Given the description of an element on the screen output the (x, y) to click on. 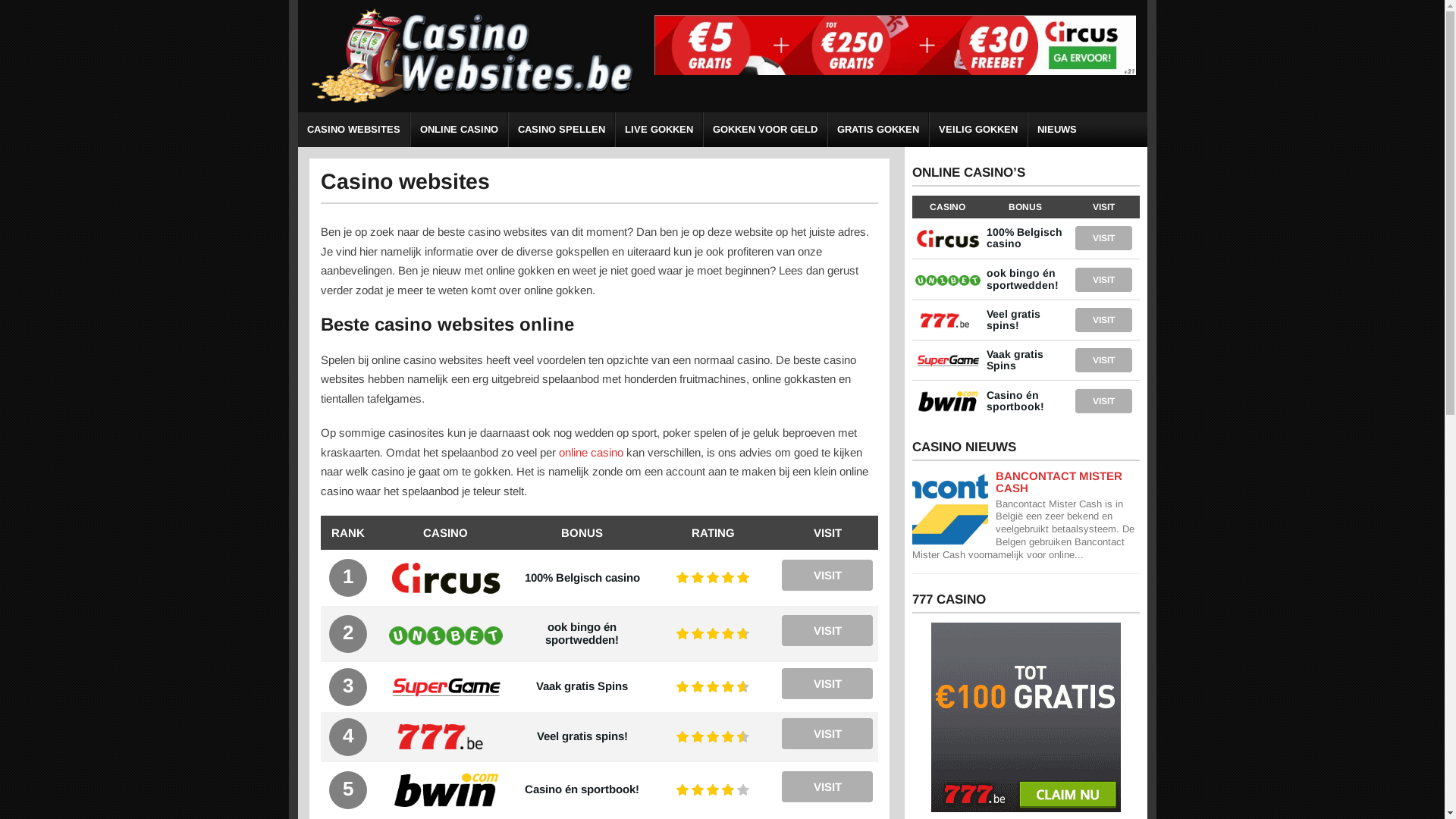
GRATIS GOKKEN Element type: text (878, 129)
ONLINE CASINO Element type: text (459, 129)
VISIT Element type: text (826, 733)
CASINO WEBSITES Element type: text (352, 129)
VISIT Element type: text (826, 683)
VEILIG GOKKEN Element type: text (977, 129)
VISIT Element type: text (1103, 319)
NIEUWS Element type: text (1056, 129)
online casino Element type: text (590, 451)
VISIT Element type: text (826, 574)
VISIT Element type: text (1103, 237)
BANCONTACT MISTER CASH Element type: text (1057, 482)
VISIT Element type: text (1103, 360)
VISIT Element type: text (826, 630)
VISIT Element type: text (1103, 401)
LIVE GOKKEN Element type: text (658, 129)
VISIT Element type: text (1103, 279)
VISIT Element type: text (826, 786)
Casino websites Element type: hover (472, 100)
GOKKEN VOOR GELD Element type: text (764, 129)
CASINO SPELLEN Element type: text (560, 129)
